Given the description of an element on the screen output the (x, y) to click on. 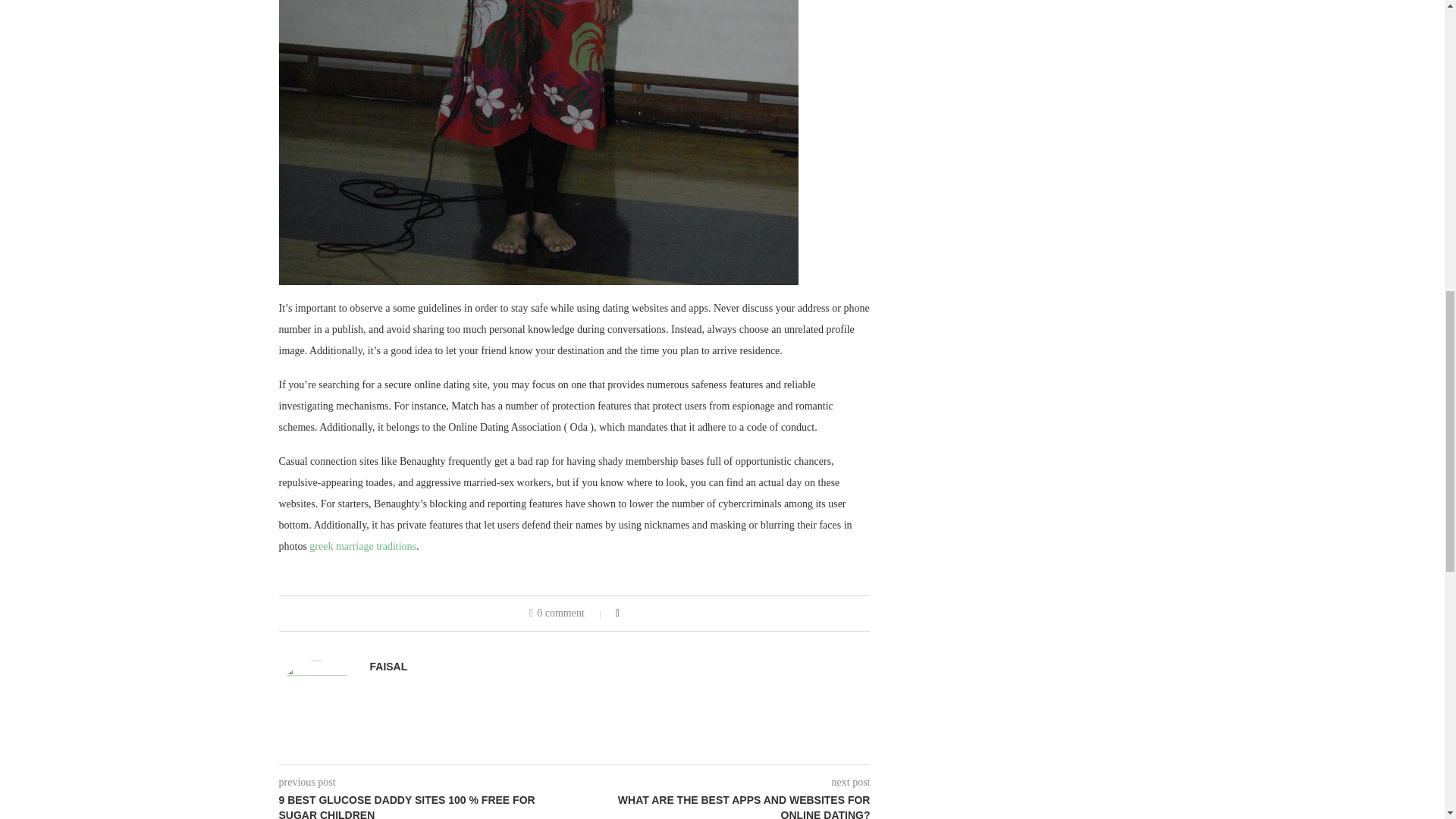
Author Faisal (388, 666)
